Given the description of an element on the screen output the (x, y) to click on. 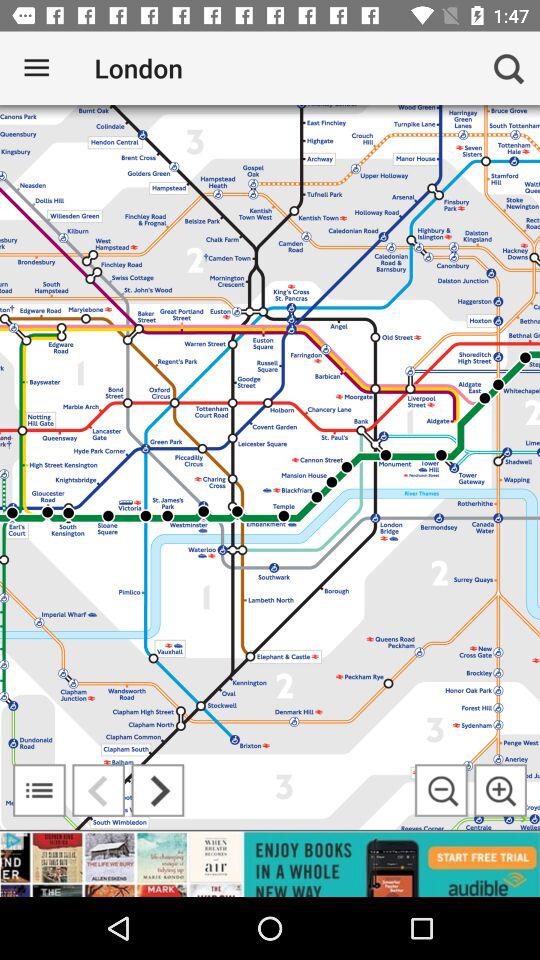
navigate left (98, 790)
